Given the description of an element on the screen output the (x, y) to click on. 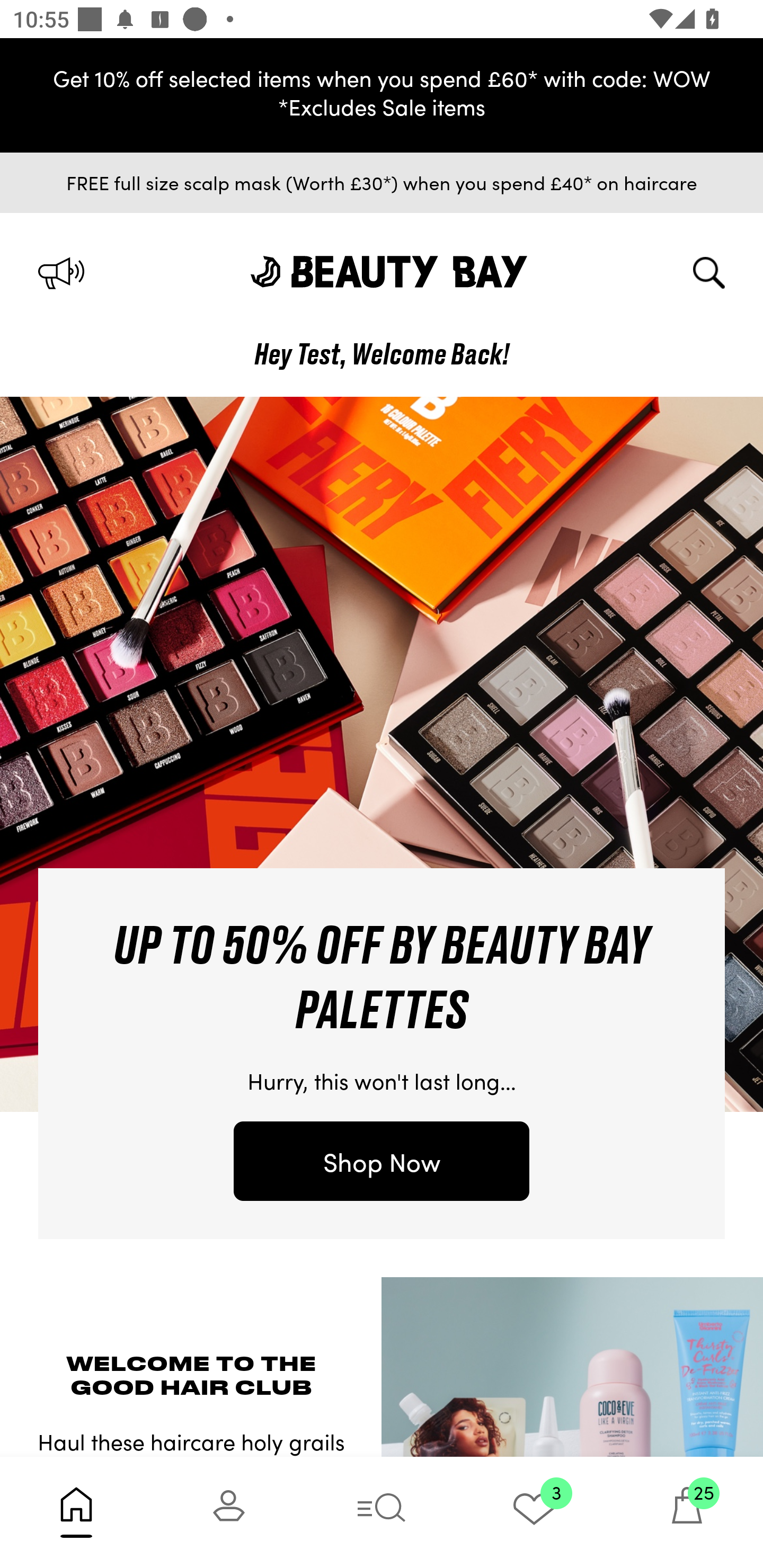
3 (533, 1512)
25 (686, 1512)
